Given the description of an element on the screen output the (x, y) to click on. 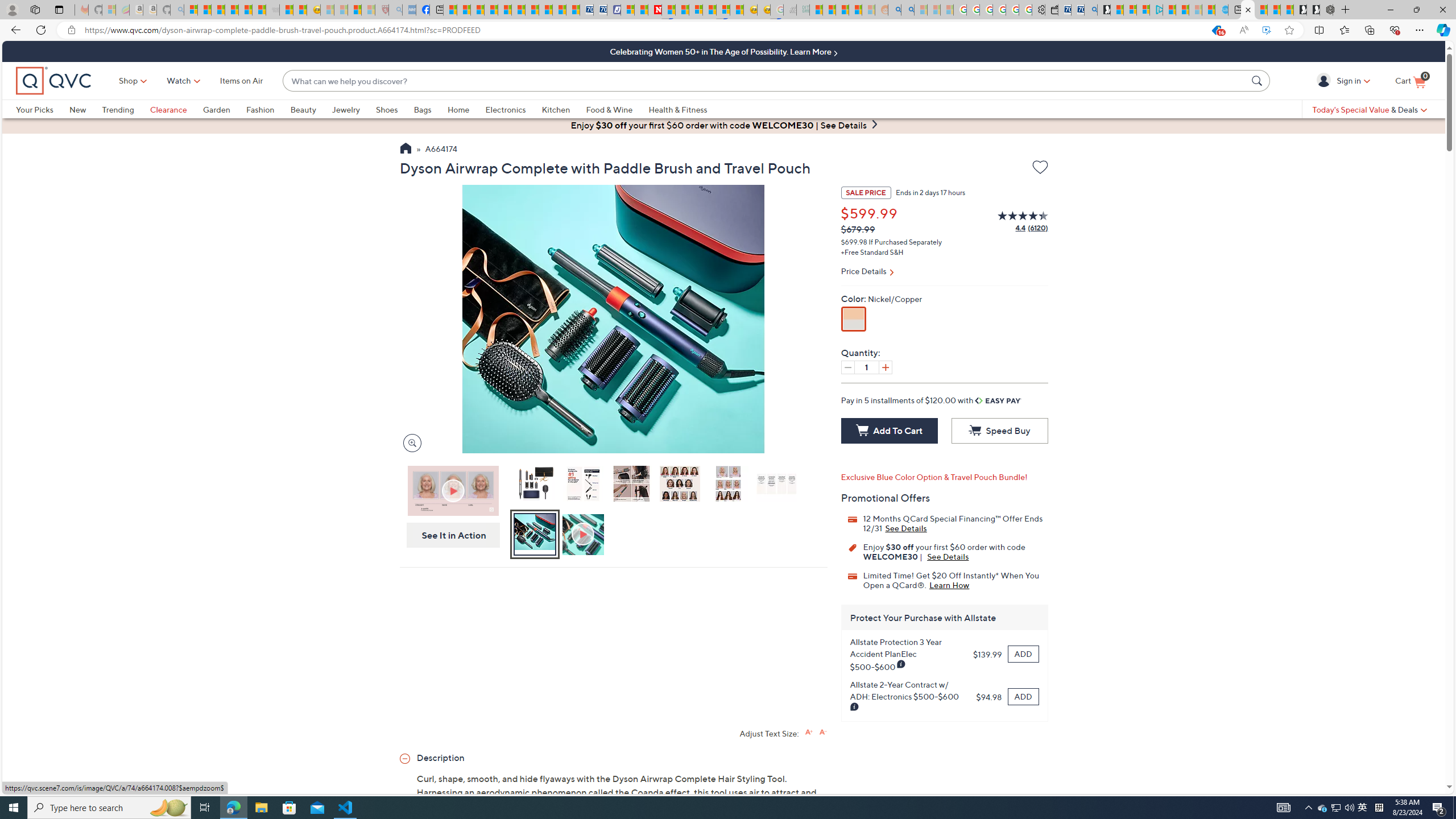
Beauty (302, 109)
Learn How (948, 584)
Today's Special Value & Deals (1369, 109)
Clearance (175, 109)
How to Use (583, 534)
Home | Sky Blue Bikes - Sky Blue Bikes (1221, 9)
Microsoft-Report a Concern to Bing - Sleeping (108, 9)
